Given the description of an element on the screen output the (x, y) to click on. 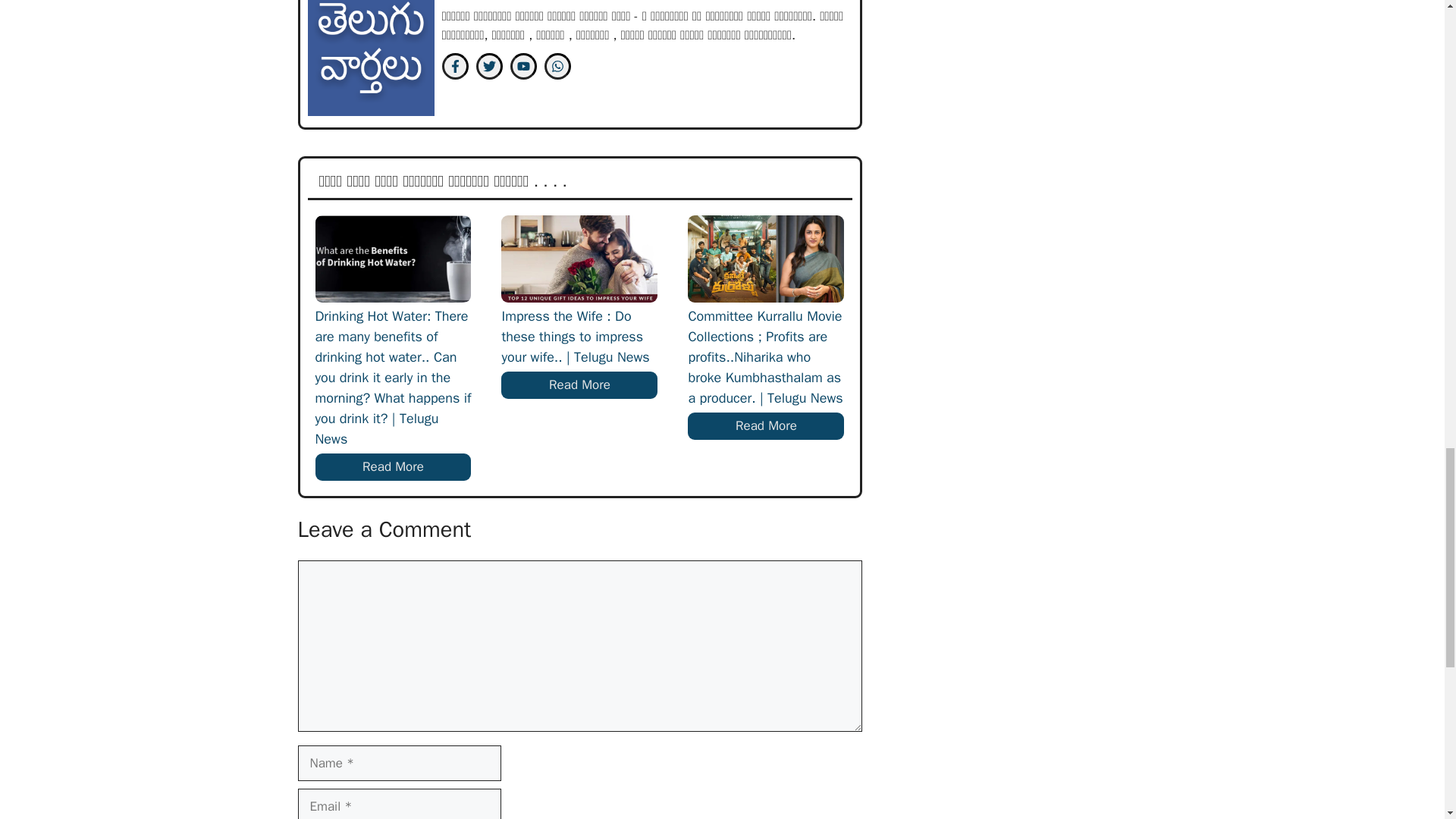
unnamed (370, 58)
Read More (579, 384)
Read More (393, 466)
